Given the description of an element on the screen output the (x, y) to click on. 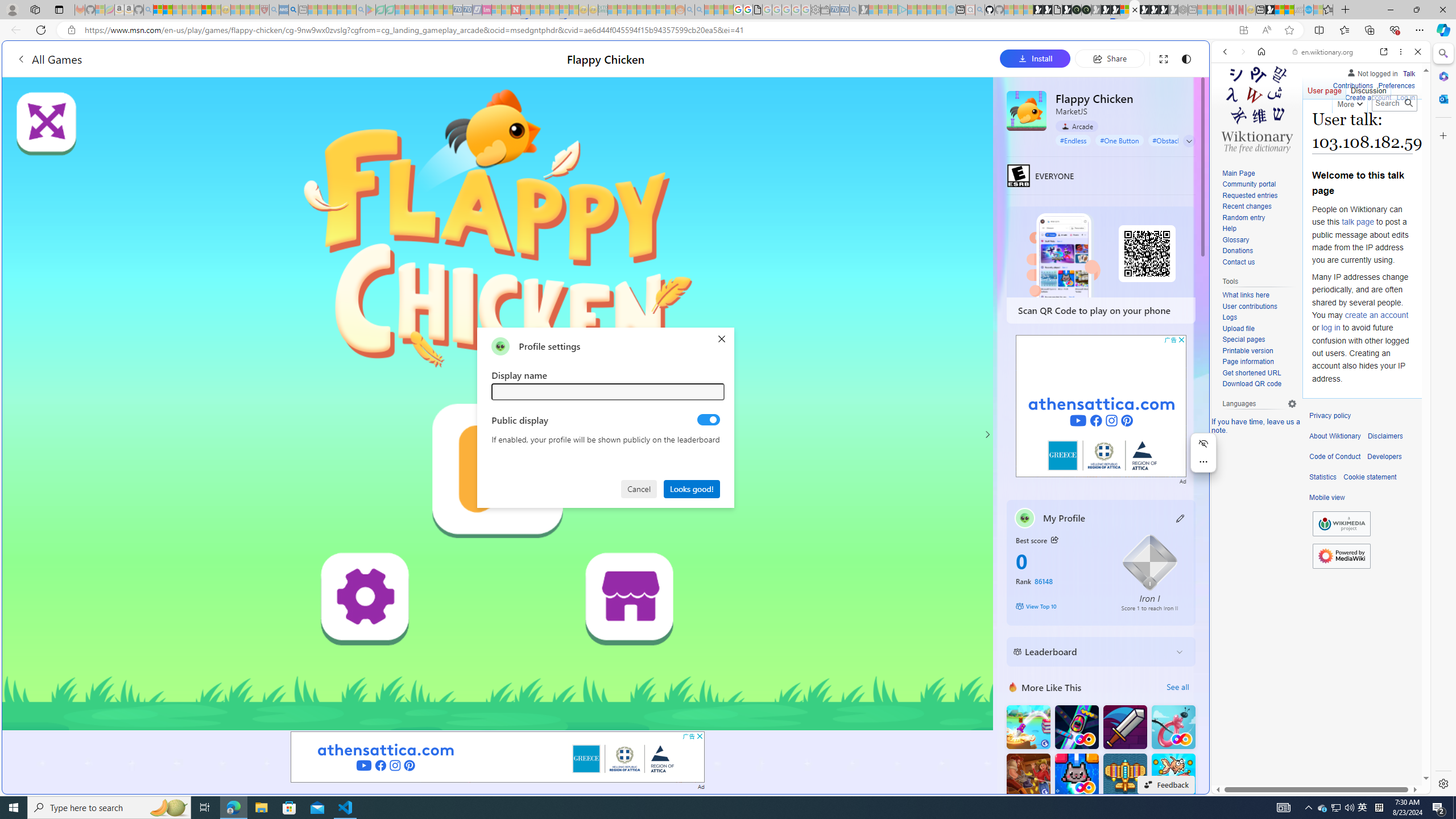
World - MSN (727, 389)
Share (1109, 58)
Main Page (1238, 172)
Glossary (1235, 239)
Download QR code (1259, 383)
Earth has six continents not seven, radical new study claims (1288, 9)
Disclaimers (1385, 436)
Recent changes (1246, 206)
Future Focus Report 2024 (1085, 9)
New tab - Sleeping (1192, 9)
What links here (1245, 295)
Change to dark mode (1185, 58)
